Given the description of an element on the screen output the (x, y) to click on. 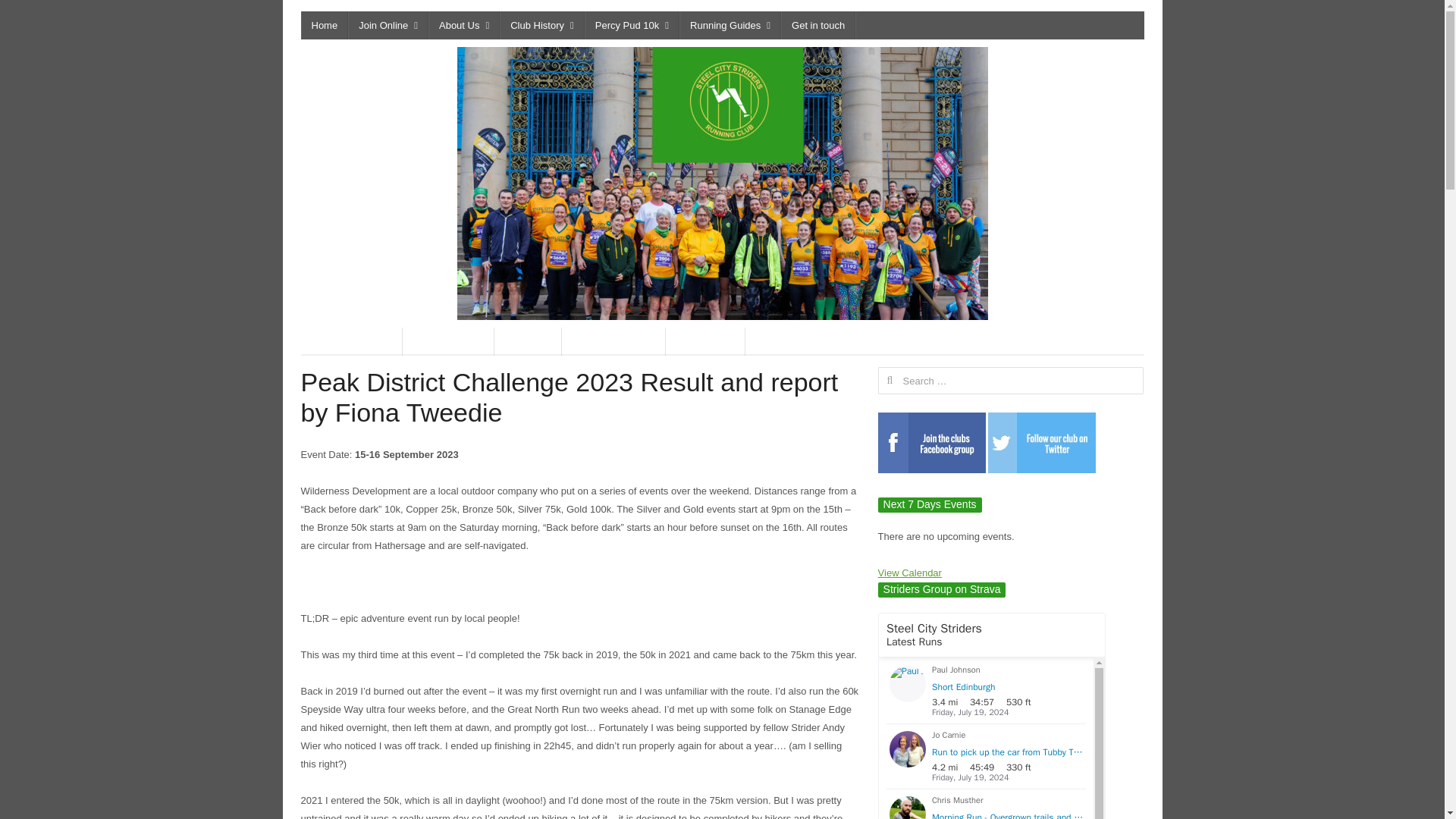
Running Guides (729, 25)
About Us (463, 25)
Join Online (387, 25)
Club History (542, 25)
Home (323, 25)
Percy Pud 10k (632, 25)
